Given the description of an element on the screen output the (x, y) to click on. 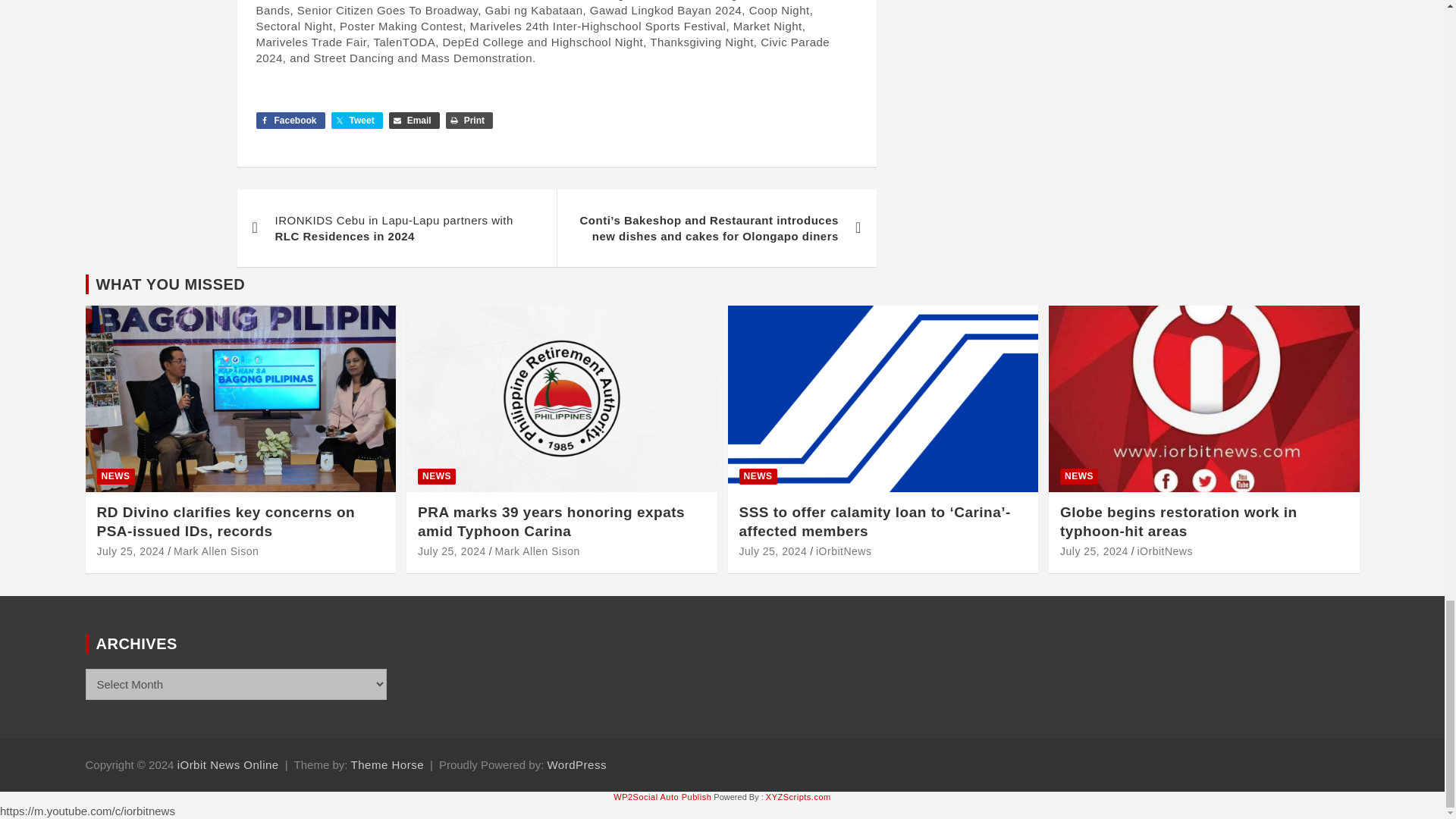
Share via Email (413, 120)
Share on Facebook (290, 120)
Print this Page (469, 120)
Email (413, 120)
Share on Twitter (356, 120)
